Given the description of an element on the screen output the (x, y) to click on. 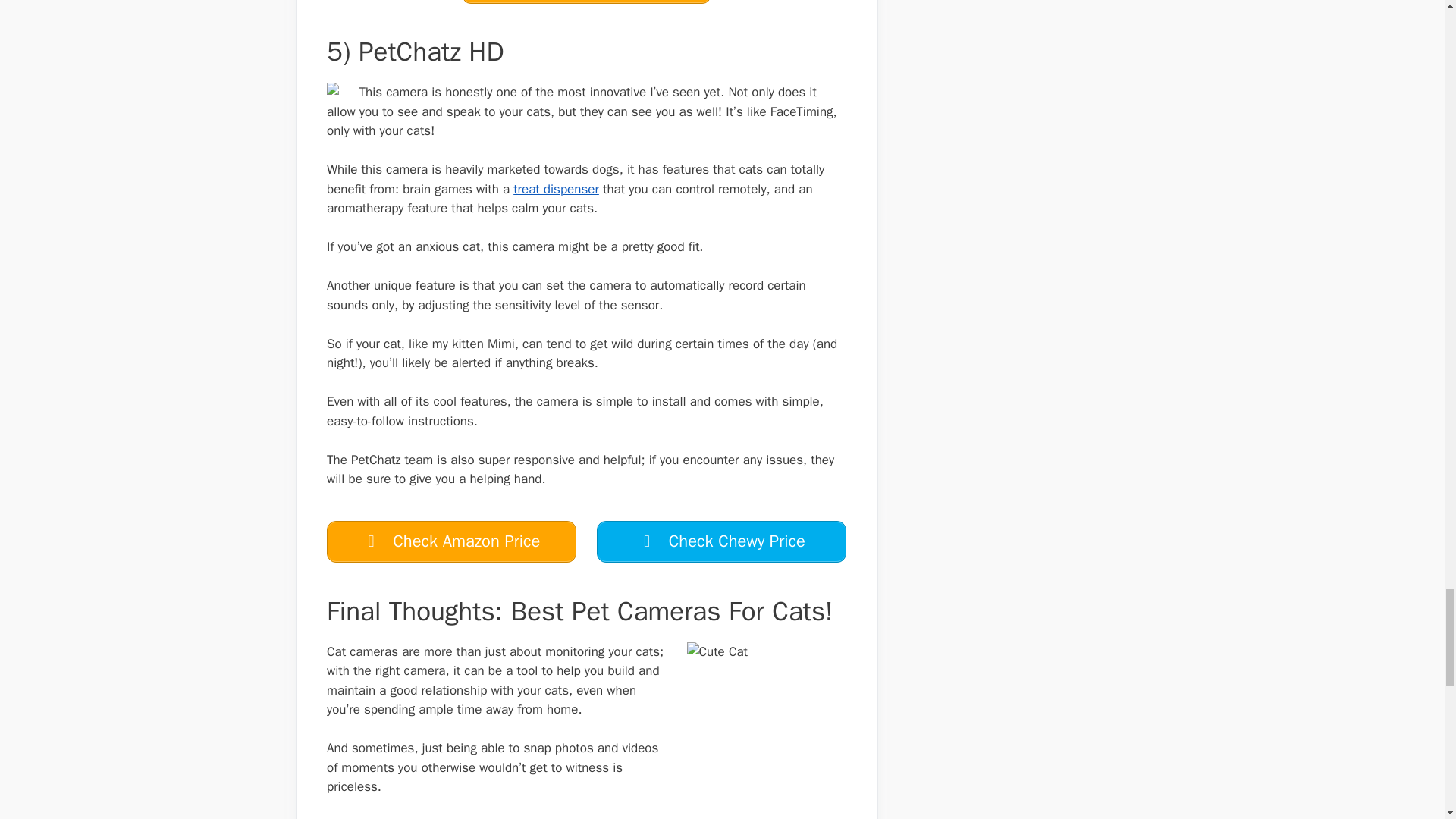
Check Amazon Price (586, 2)
treat dispenser (555, 188)
Check Amazon Price (451, 541)
Check Chewy Price (720, 541)
